Given the description of an element on the screen output the (x, y) to click on. 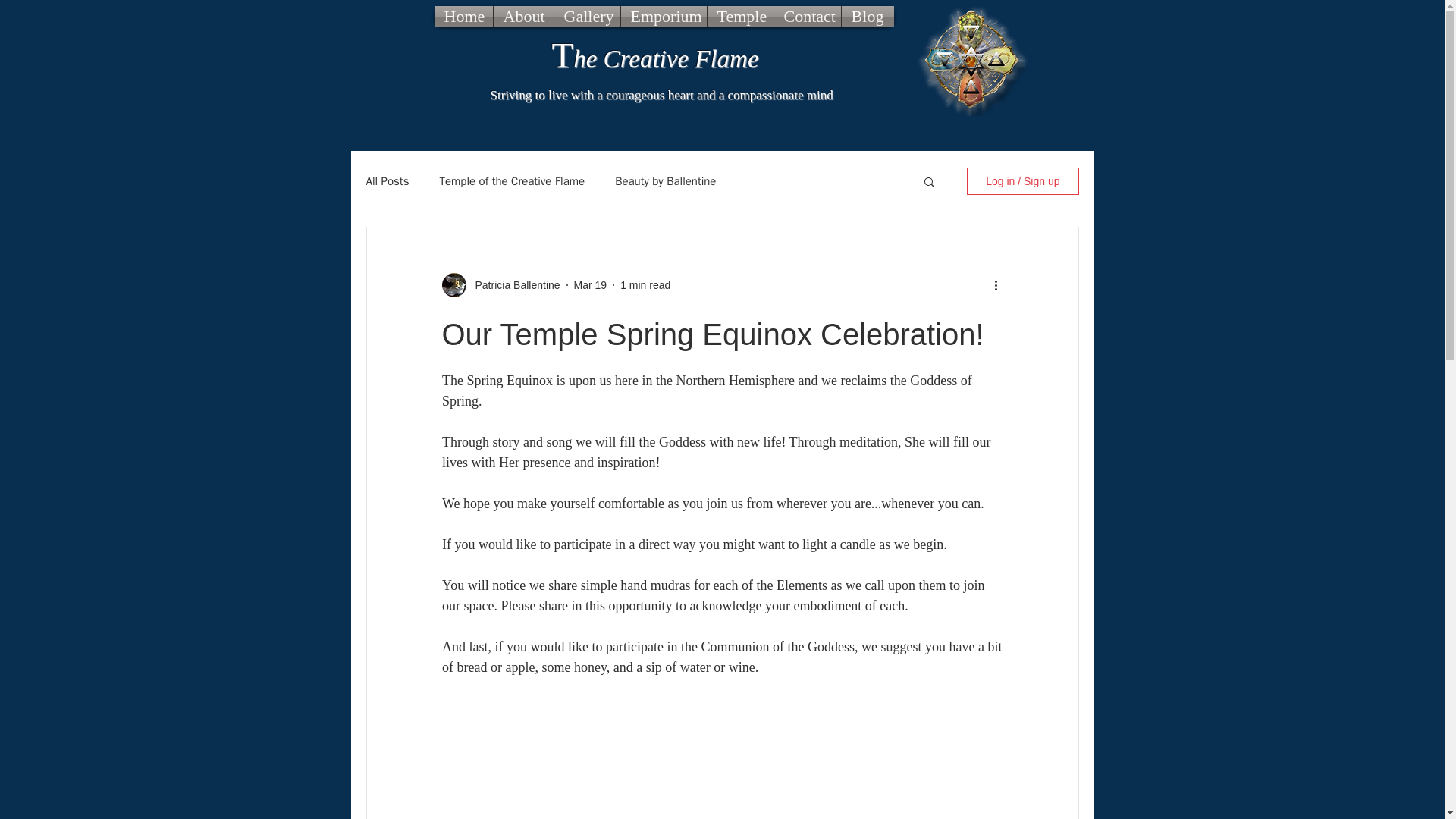
About (523, 16)
Temple of the Creative Flame (512, 181)
Mar 19 (590, 285)
All Posts (387, 181)
Blog (867, 16)
Patricia Ballentine (512, 285)
Beauty by Ballentine (665, 181)
Contact (806, 16)
Emporium (663, 16)
Home (462, 16)
Gallery (586, 16)
1 min read (644, 285)
Temple (739, 16)
